Given the description of an element on the screen output the (x, y) to click on. 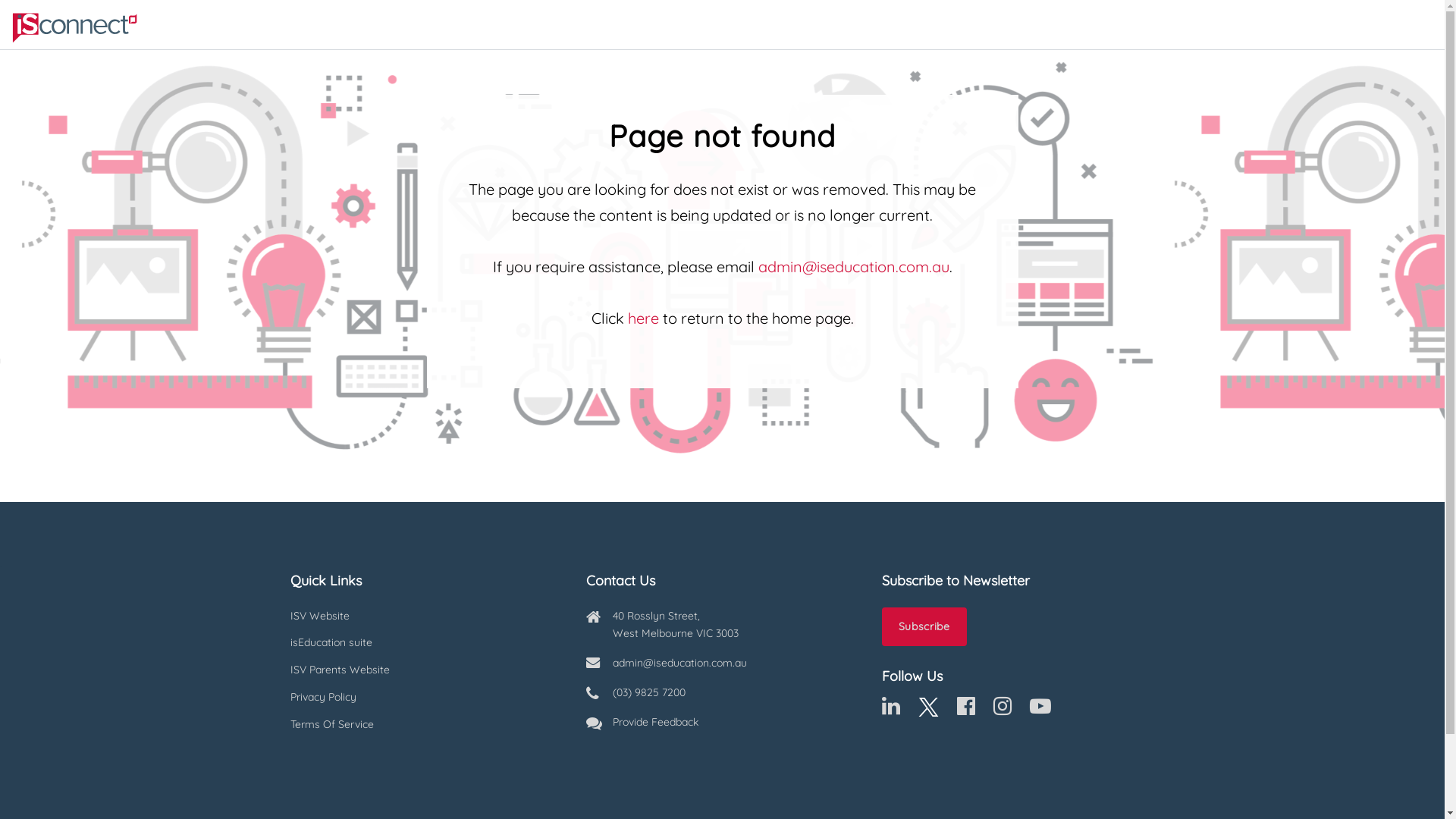
ISV Instagram Element type: hover (1002, 709)
isEducation suite Element type: text (425, 642)
ISV Website Element type: text (425, 616)
admin@iseducation.com.au Element type: text (853, 266)
ISV Parents Website Element type: text (425, 670)
ISV YouTube Element type: hover (1040, 709)
Provide Feedback Element type: text (655, 721)
Subscribe Element type: text (923, 626)
ISV Twitter Element type: hover (927, 709)
ISV lnkLinkedIn Element type: hover (890, 709)
admin@iseducation.com.au Element type: text (679, 662)
(03) 9825 7200 Element type: text (648, 692)
here Element type: text (642, 317)
Terms Of Service Element type: text (425, 724)
Privacy Policy Element type: text (425, 697)
ISV Facebook Element type: hover (966, 709)
